Given the description of an element on the screen output the (x, y) to click on. 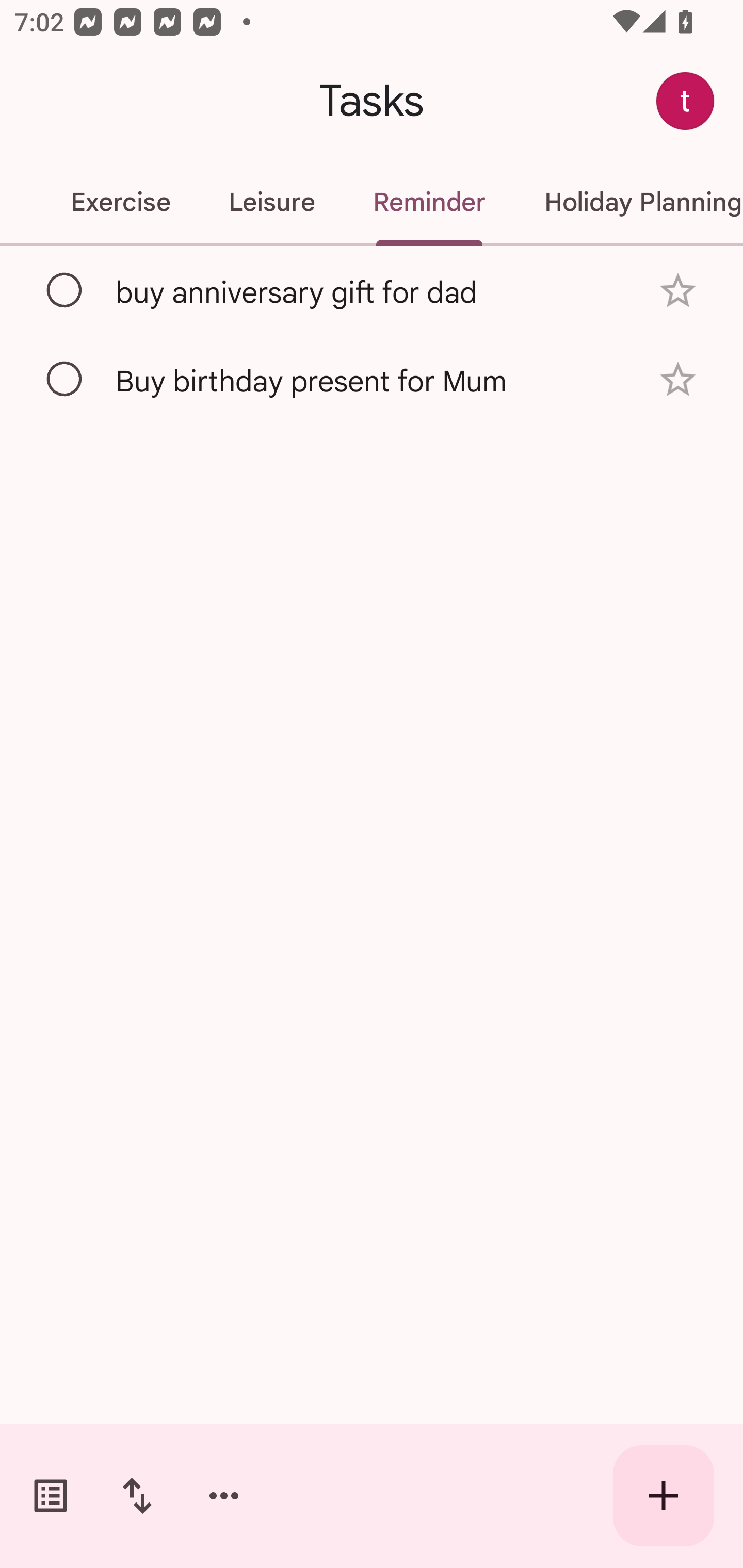
Exercise (120, 202)
Leisure (271, 202)
Holiday Planning (628, 202)
Add star (677, 290)
Mark as complete (64, 290)
Add star (677, 379)
Mark as complete (64, 379)
Switch task lists (50, 1495)
Create new task (663, 1495)
Change sort order (136, 1495)
More options (223, 1495)
